Given the description of an element on the screen output the (x, y) to click on. 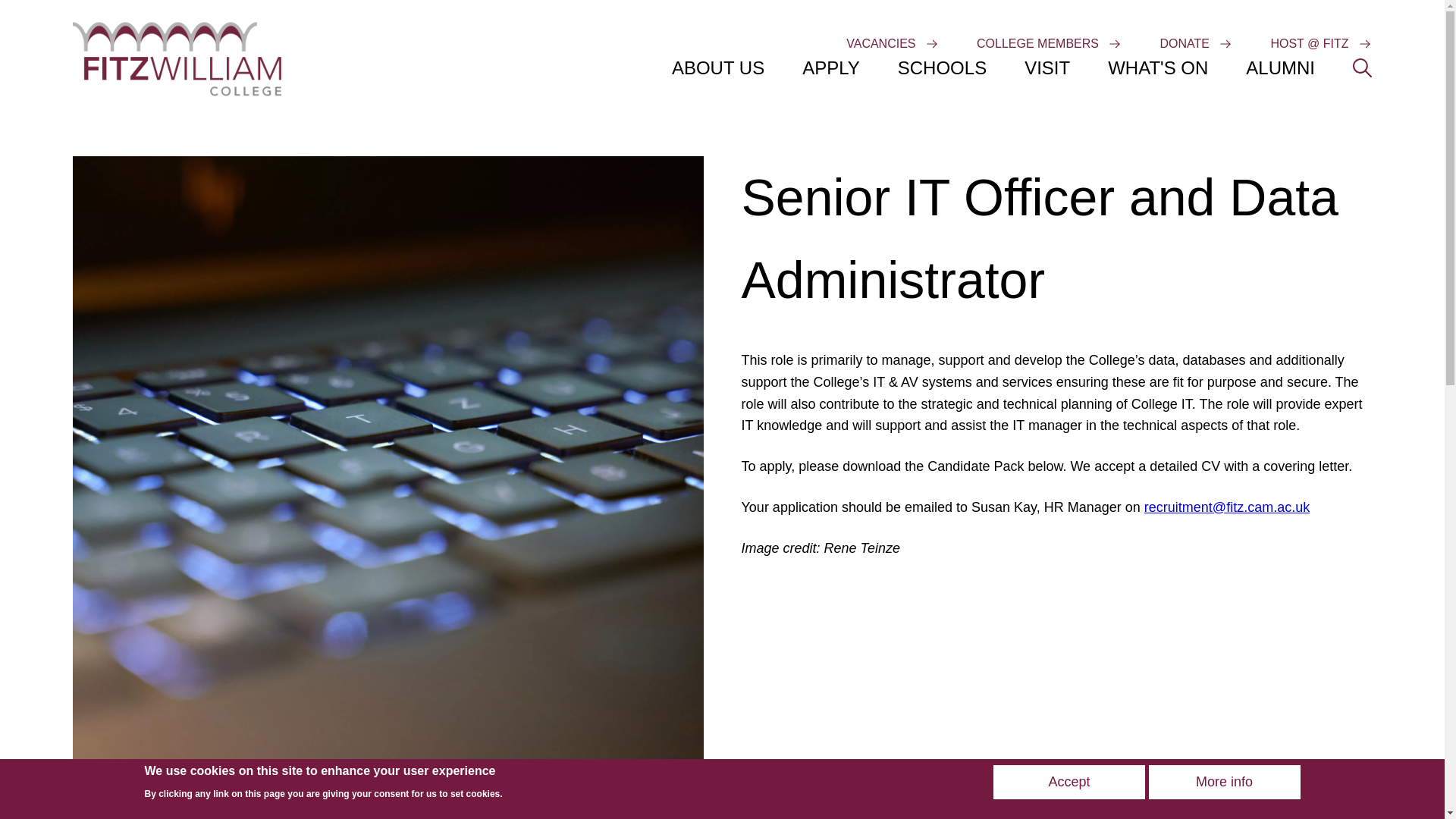
ALUMNI (1280, 69)
VACANCIES (880, 44)
SCHOOLS (942, 69)
VISIT (1047, 69)
WHAT'S ON (1158, 69)
APPLY (831, 69)
COLLEGE MEMBERS (1037, 44)
DONATE (1183, 44)
ABOUT US (717, 69)
